Given the description of an element on the screen output the (x, y) to click on. 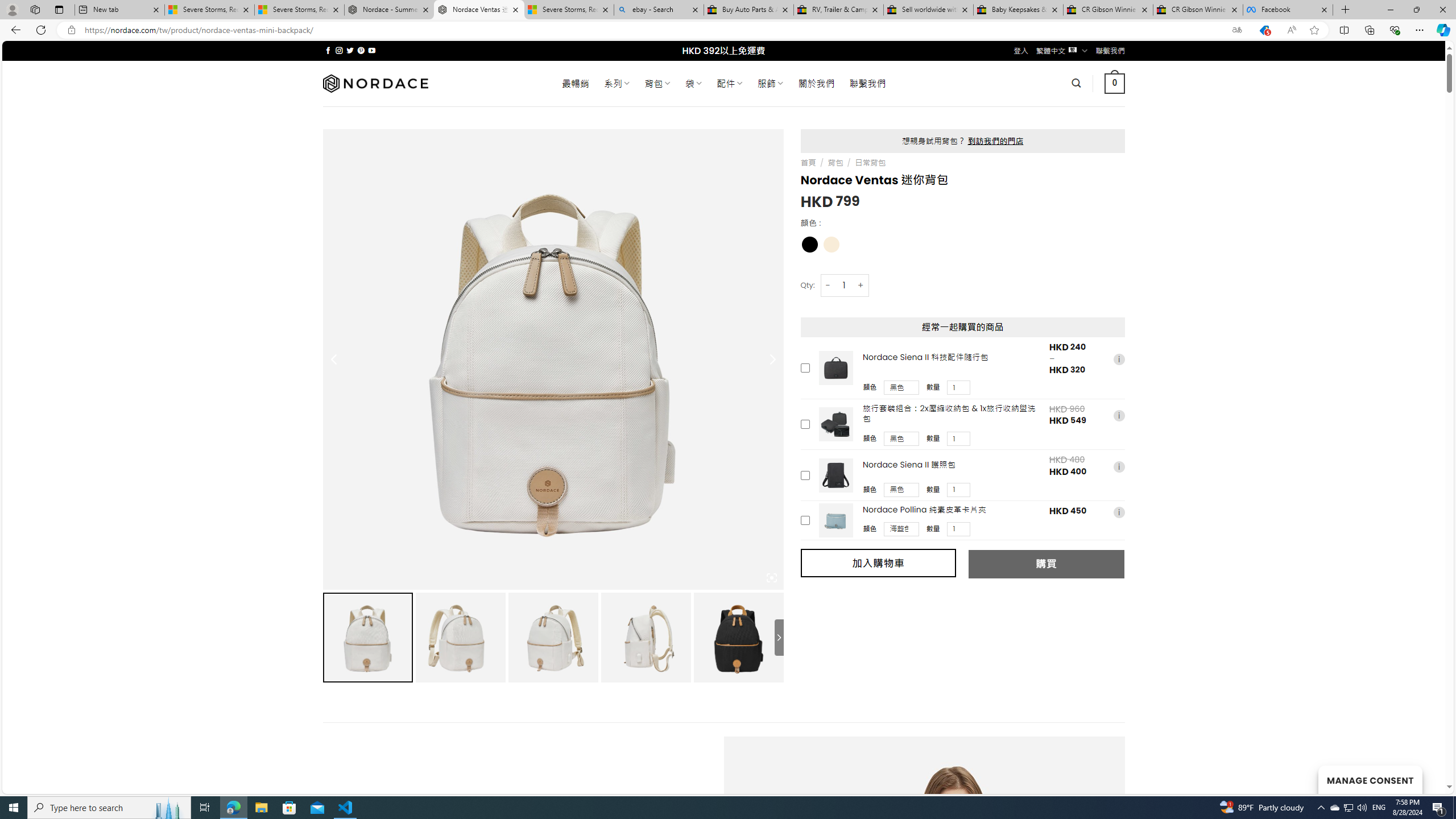
Add this product to cart (804, 520)
Class: iconic-woothumbs-fullscreen (771, 577)
